Given the description of an element on the screen output the (x, y) to click on. 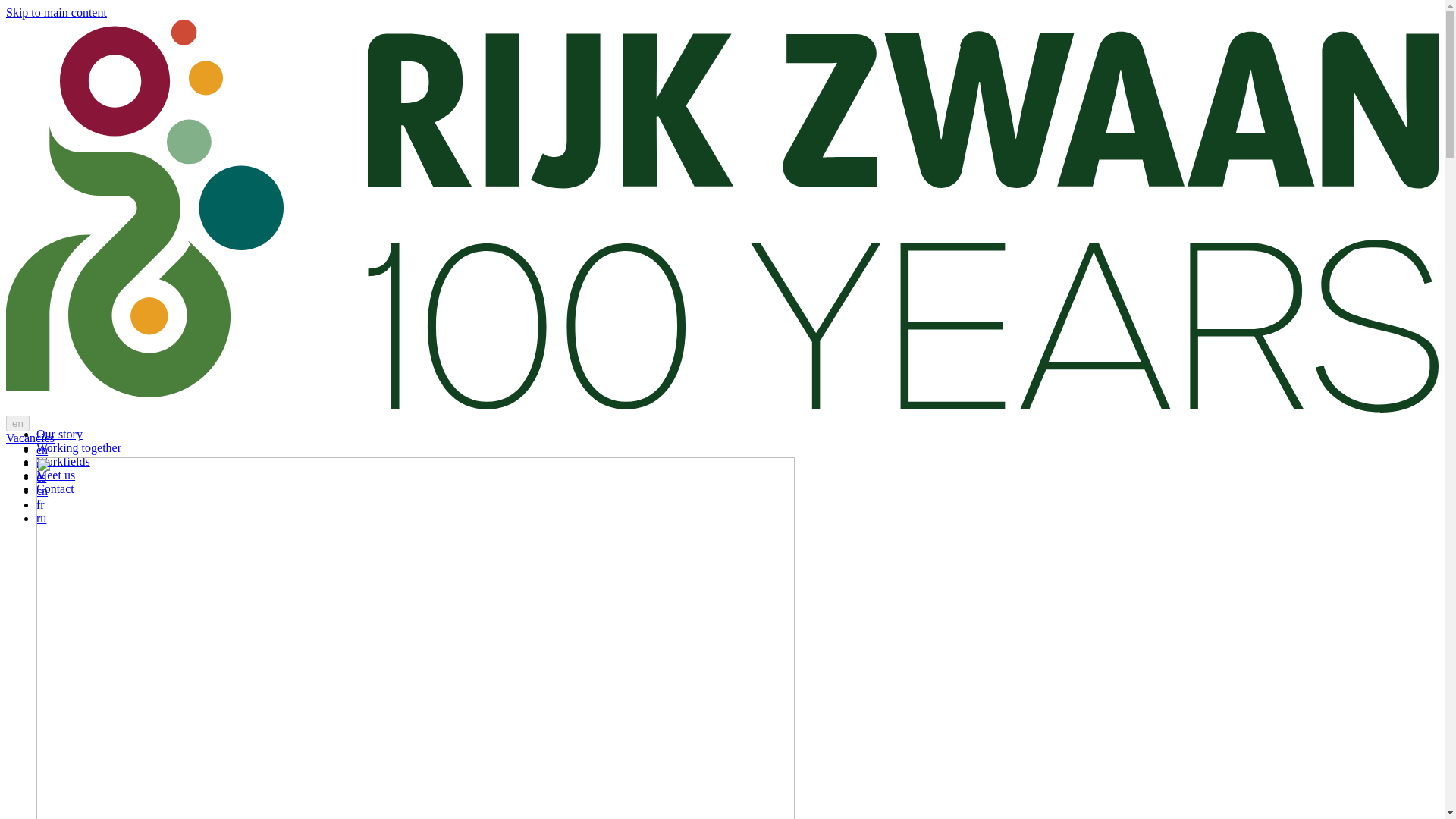
Contact (55, 488)
en (17, 423)
Skip to main content (55, 11)
Vacancies (30, 437)
Working together (78, 447)
Meet us (55, 474)
Workfields (63, 461)
Our story (59, 433)
